Given the description of an element on the screen output the (x, y) to click on. 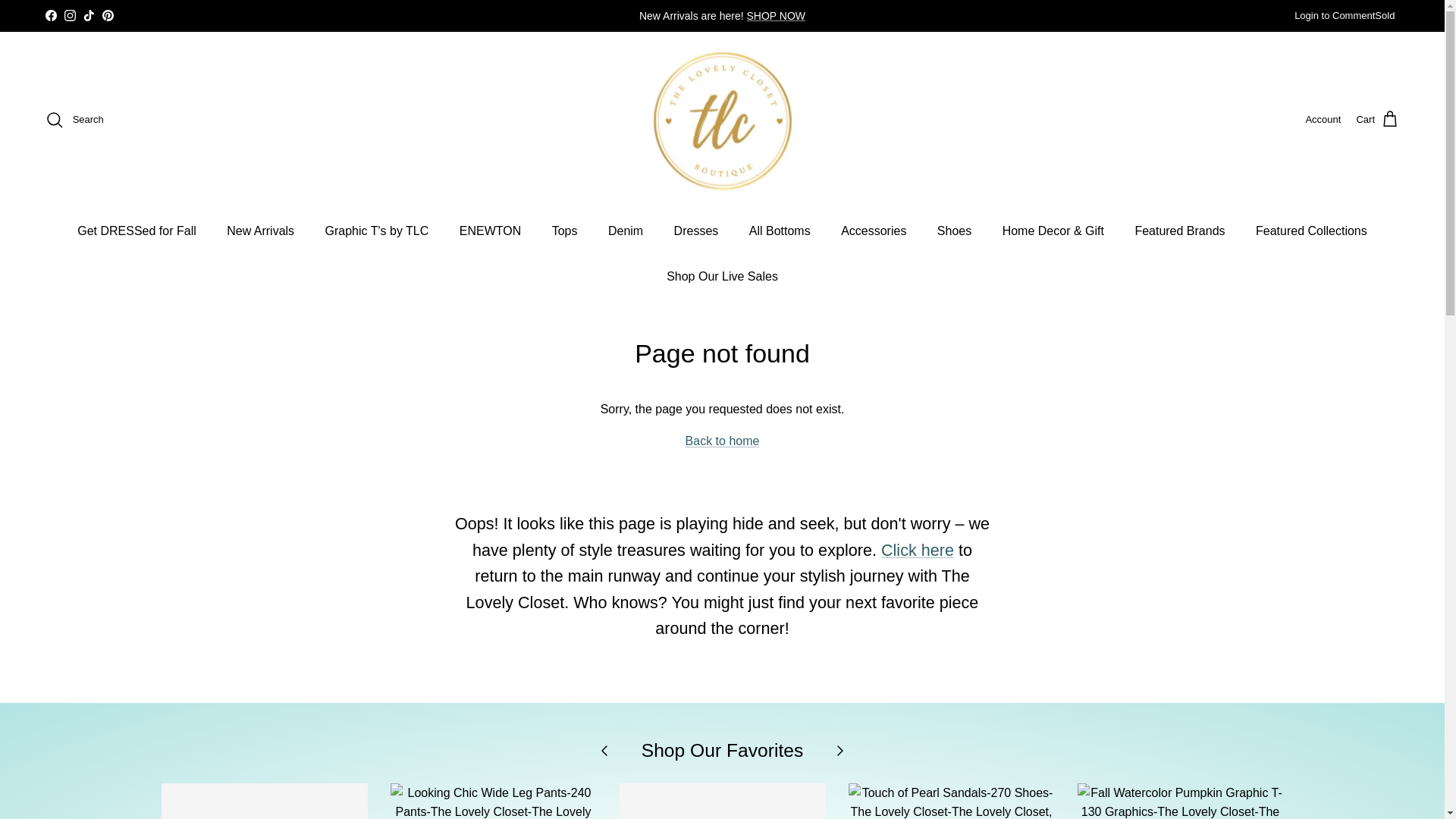
The Lovely Closet on TikTok (88, 15)
Pinterest (107, 15)
New Arrivals (259, 230)
The Lovely Closet (721, 119)
Facebook (50, 15)
SHOP NOW (776, 15)
Dresses (696, 230)
All Bottoms (779, 230)
The Lovely Closet on Facebook (50, 15)
Graphic T's by TLC (376, 230)
